Given the description of an element on the screen output the (x, y) to click on. 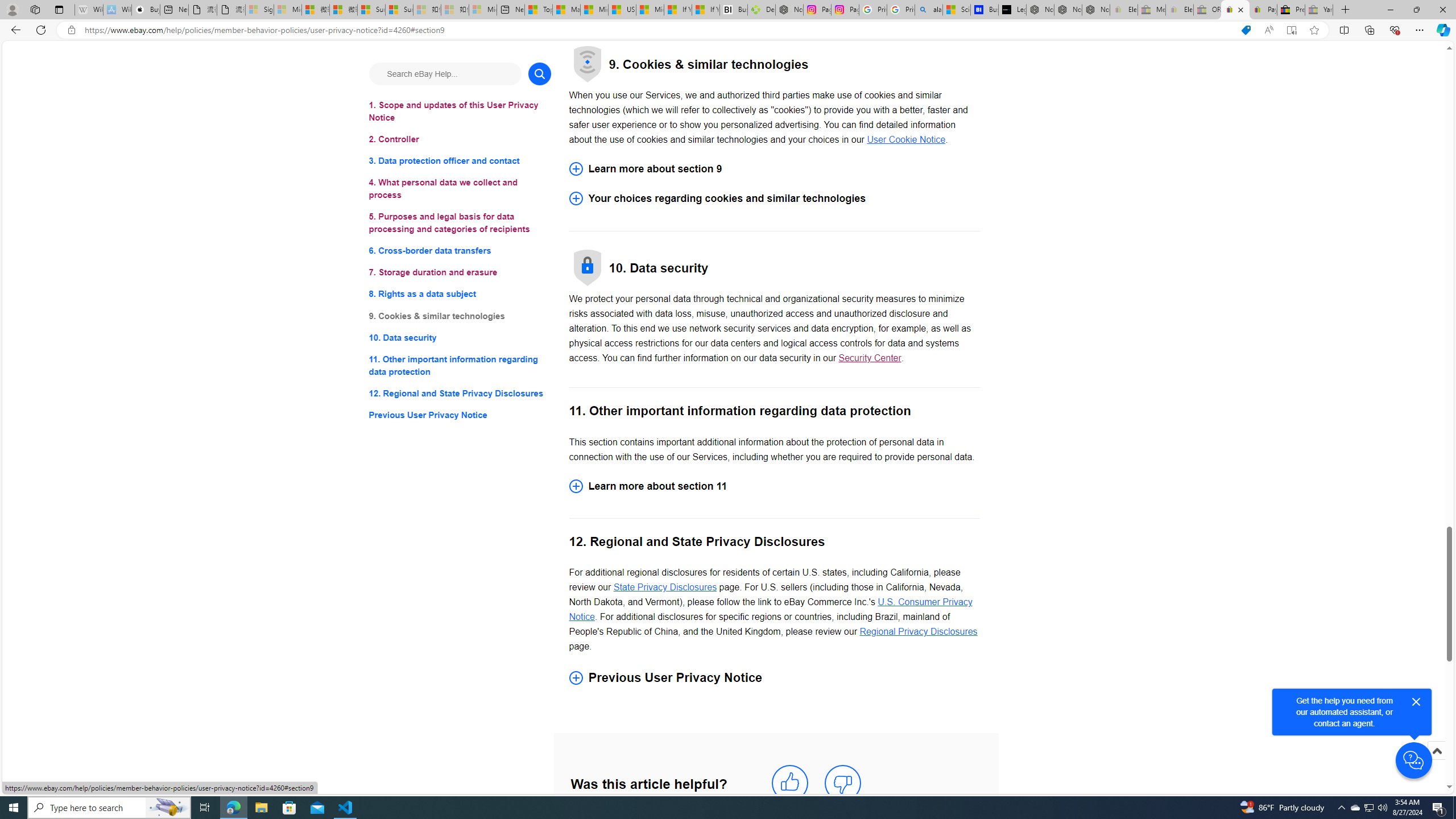
9. Cookies & similar technologies (459, 315)
Microsoft account | Account Checkup - Sleeping (483, 9)
6. Cross-border data transfers (459, 250)
8. Rights as a data subject (459, 293)
Regional Privacy Disclosures - opens in new window or tab (917, 631)
4. What personal data we collect and process (459, 189)
8. Rights as a data subject (459, 293)
12. Regional and State Privacy Disclosures (459, 392)
6. Cross-border data transfers (459, 250)
User Cookie Notice (906, 139)
